Given the description of an element on the screen output the (x, y) to click on. 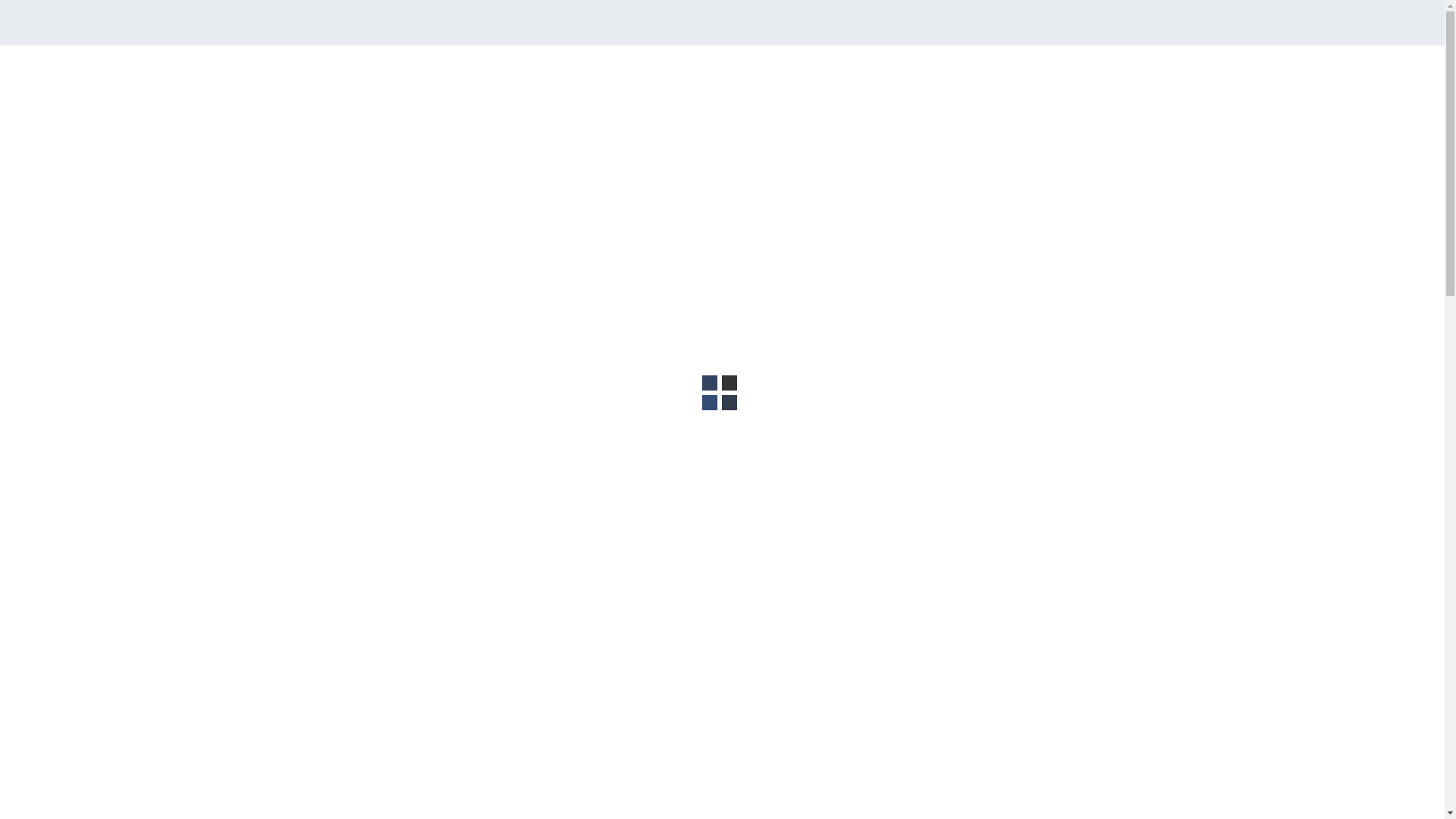
Read this before you choose your home builders (1045, 809)
COMMERCIAL (942, 82)
Benefits of Electrical Service Providers in Canberra (1032, 484)
RESIDENTIAL (1029, 82)
ABOUT (799, 82)
HOME (750, 82)
CONTACT US (1112, 82)
February 14, 2019 (362, 358)
Residential (525, 358)
